Given the description of an element on the screen output the (x, y) to click on. 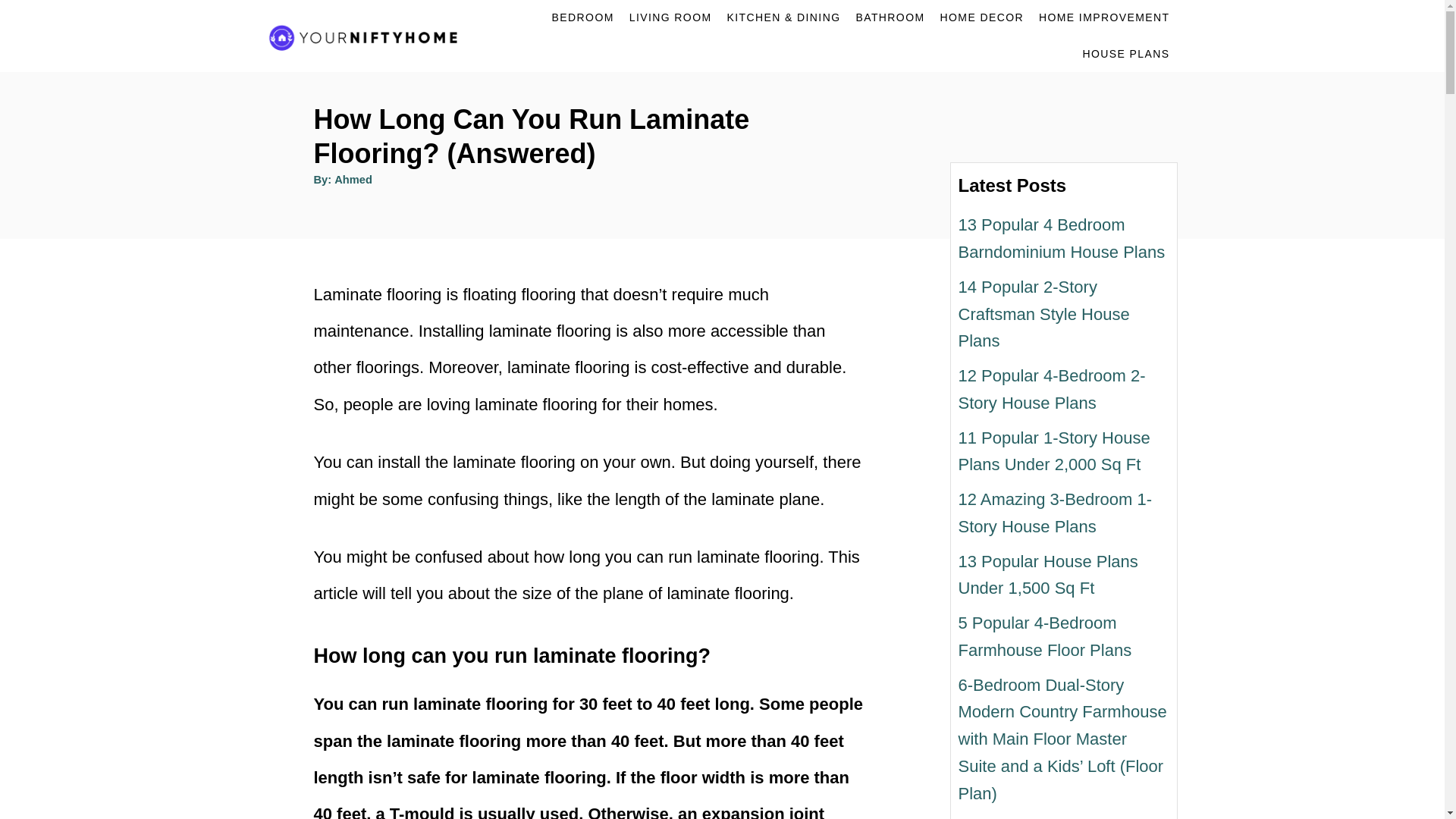
HOME IMPROVEMENT (1103, 18)
HOME DECOR (981, 18)
HOUSE PLANS (1126, 53)
BATHROOM (889, 18)
LIVING ROOM (670, 18)
BEDROOM (582, 18)
YourNiftyHome (368, 36)
Ahmed (353, 179)
